Given the description of an element on the screen output the (x, y) to click on. 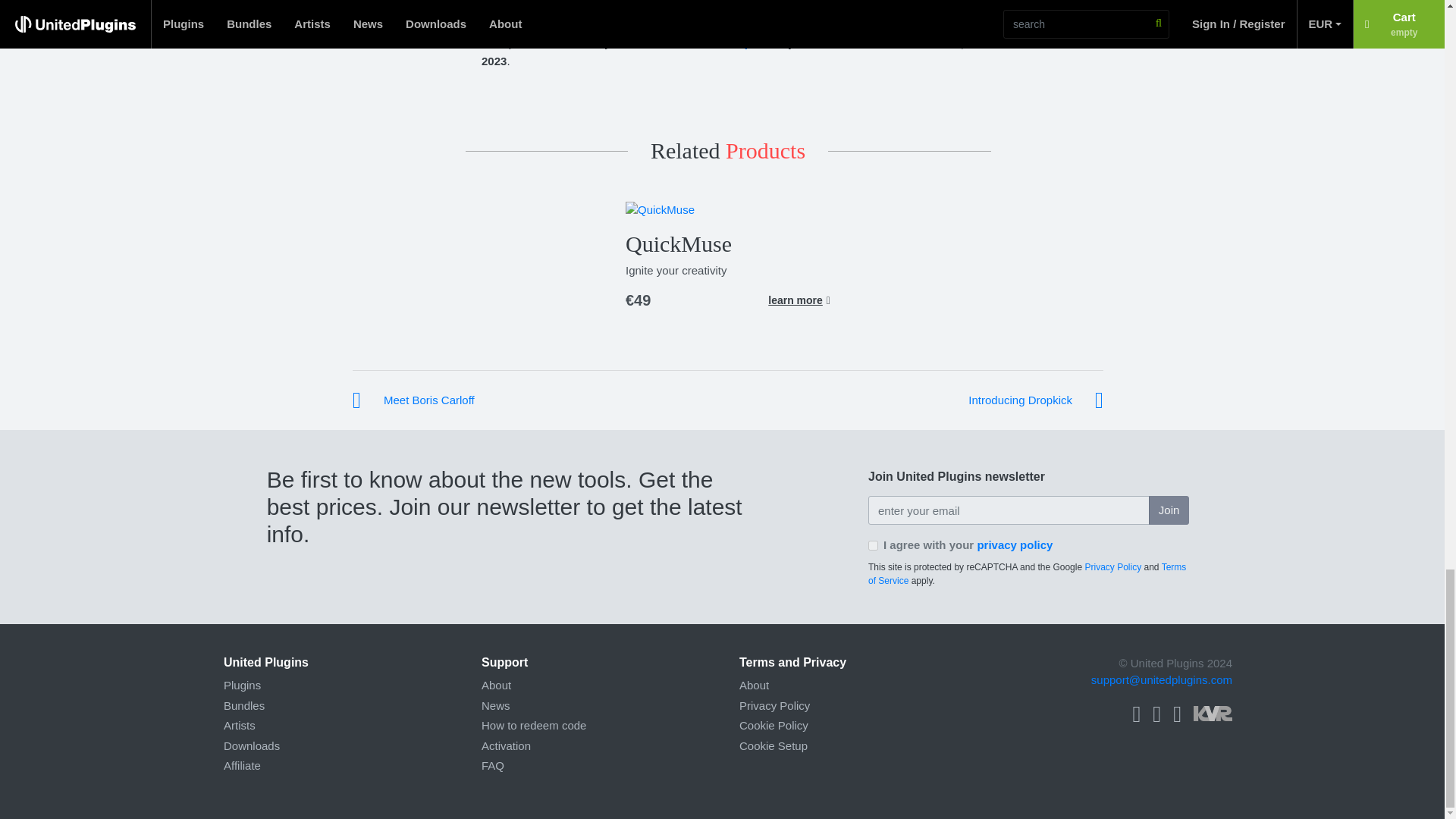
QuickMuse (679, 243)
United Plugins KVR Audio (1212, 711)
on (872, 545)
QuickMuse details and features (798, 300)
